Given the description of an element on the screen output the (x, y) to click on. 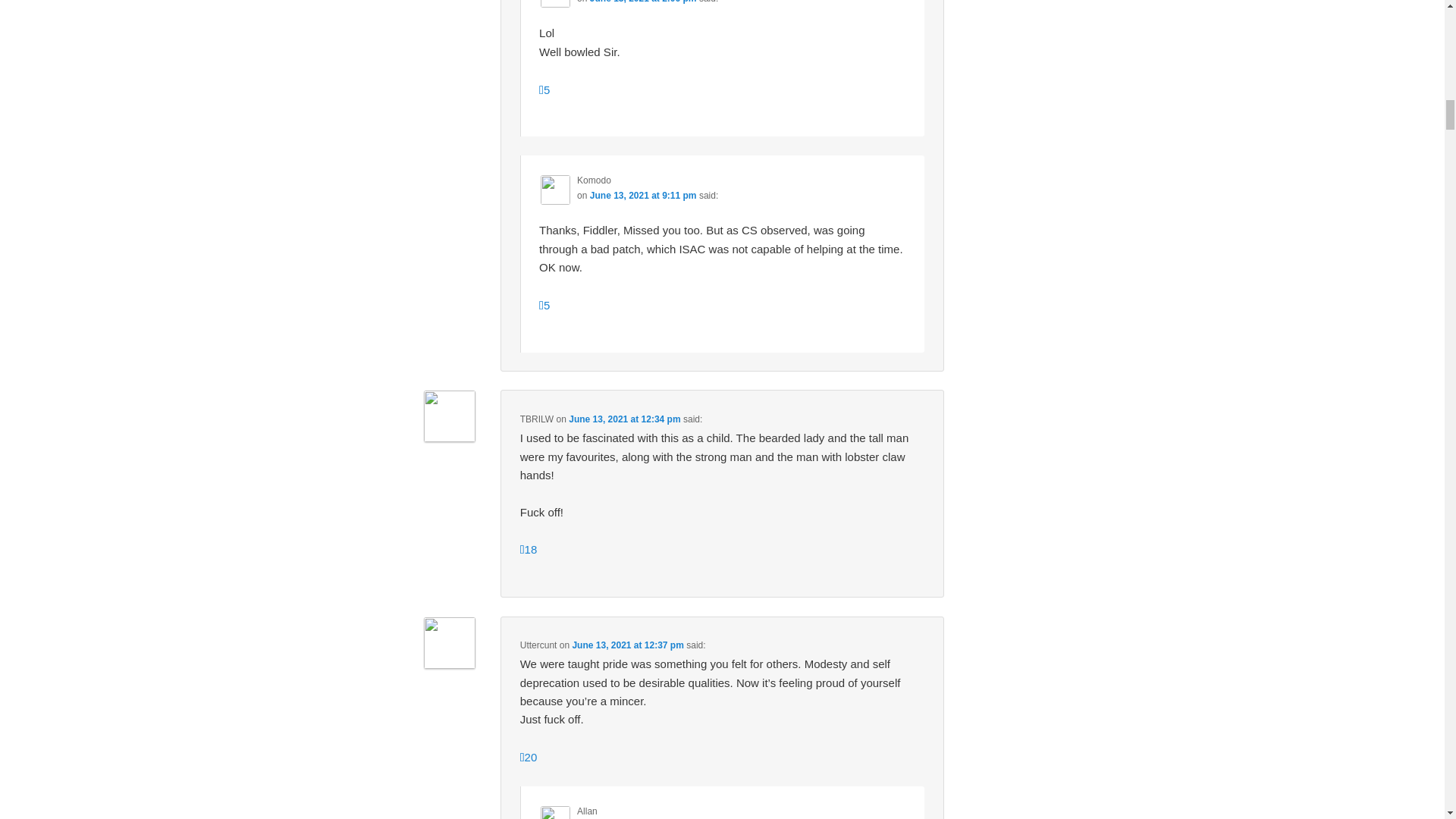
June 13, 2021 at 2:06 pm (643, 2)
18 (528, 549)
June 13, 2021 at 12:34 pm (624, 419)
20 (528, 757)
June 13, 2021 at 9:11 pm (643, 195)
June 13, 2021 at 12:37 pm (627, 644)
